Given the description of an element on the screen output the (x, y) to click on. 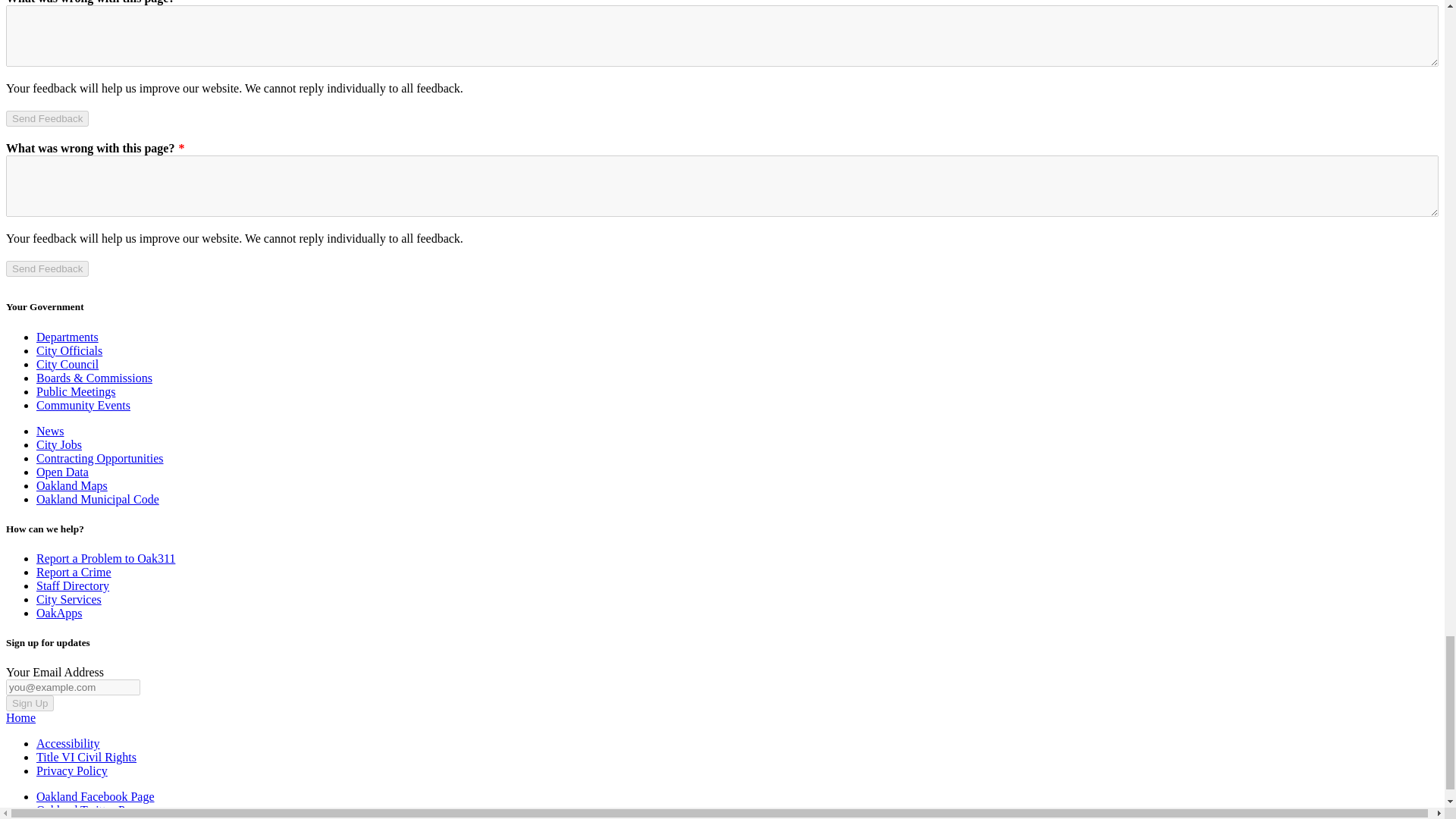
Sign Up (29, 703)
